Given the description of an element on the screen output the (x, y) to click on. 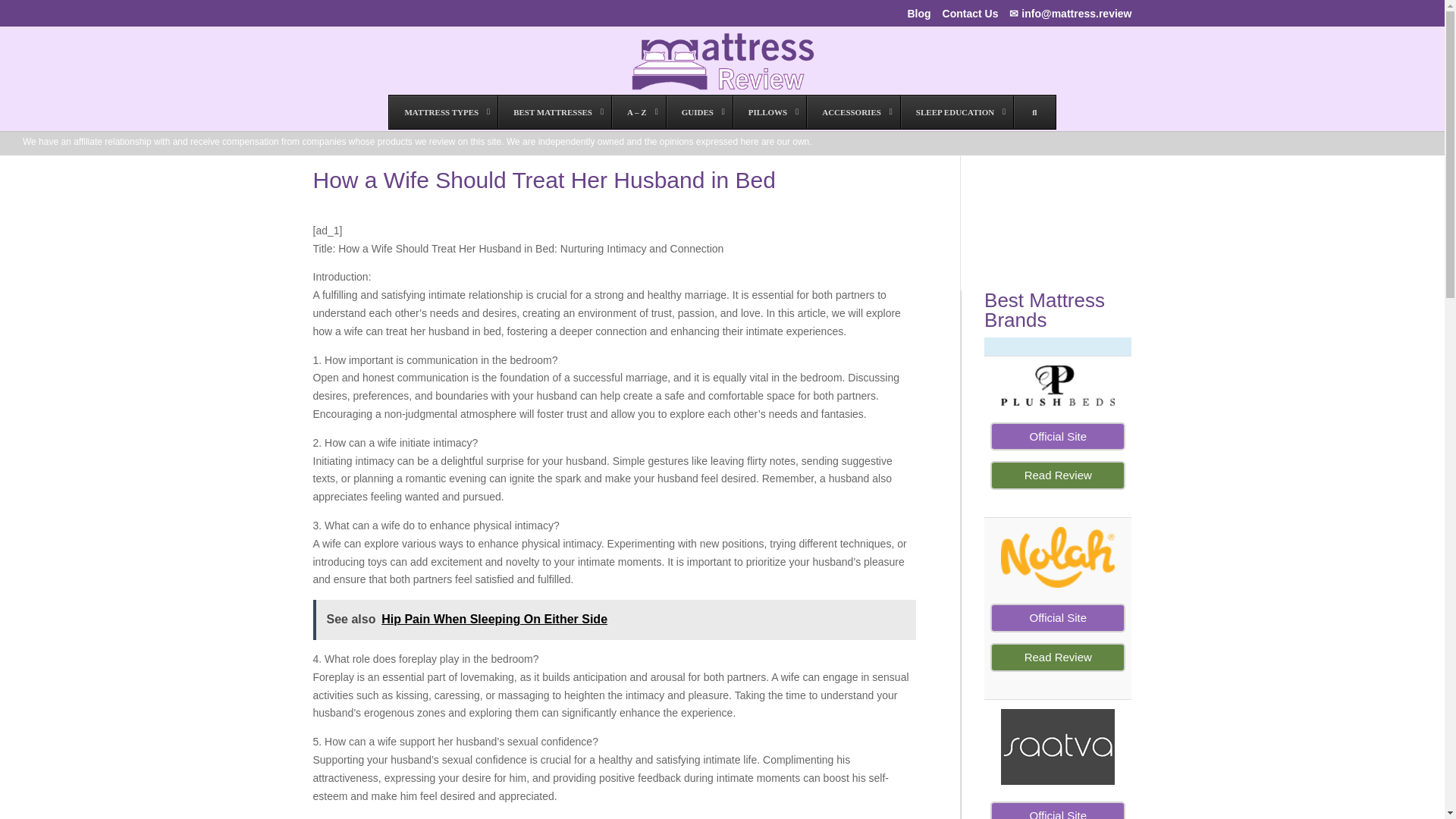
Blog (918, 16)
Contact Us (970, 16)
MATTRESS TYPES (442, 111)
